Given the description of an element on the screen output the (x, y) to click on. 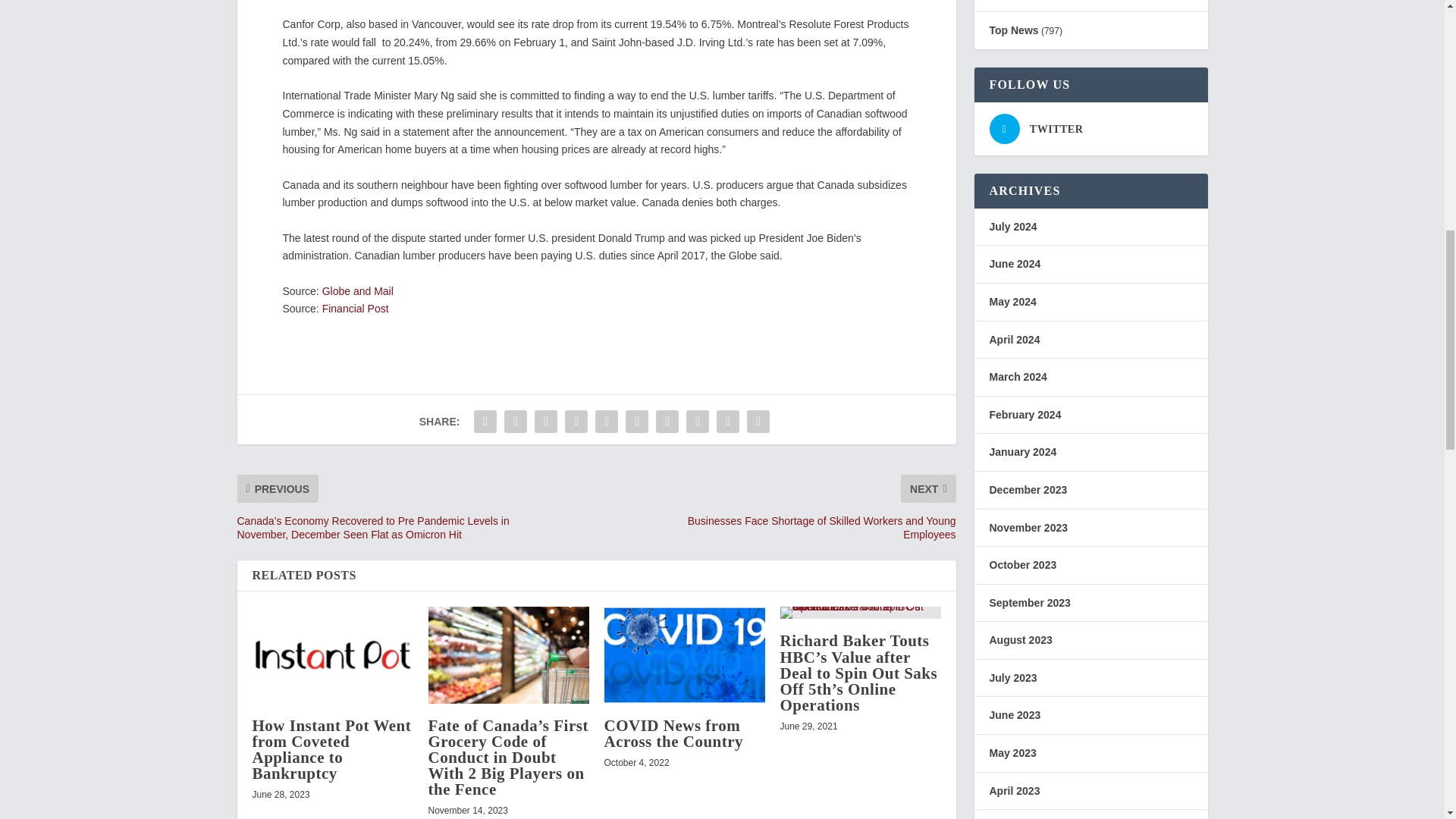
How Instant Pot Went from Coveted Appliance to Bankruptcy (331, 654)
Financial Post (354, 308)
Globe and Mail (357, 291)
How Instant Pot Went from Coveted Appliance to Bankruptcy (330, 749)
COVID News from Across the Country (684, 654)
COVID News from Across the Country (673, 733)
